Given the description of an element on the screen output the (x, y) to click on. 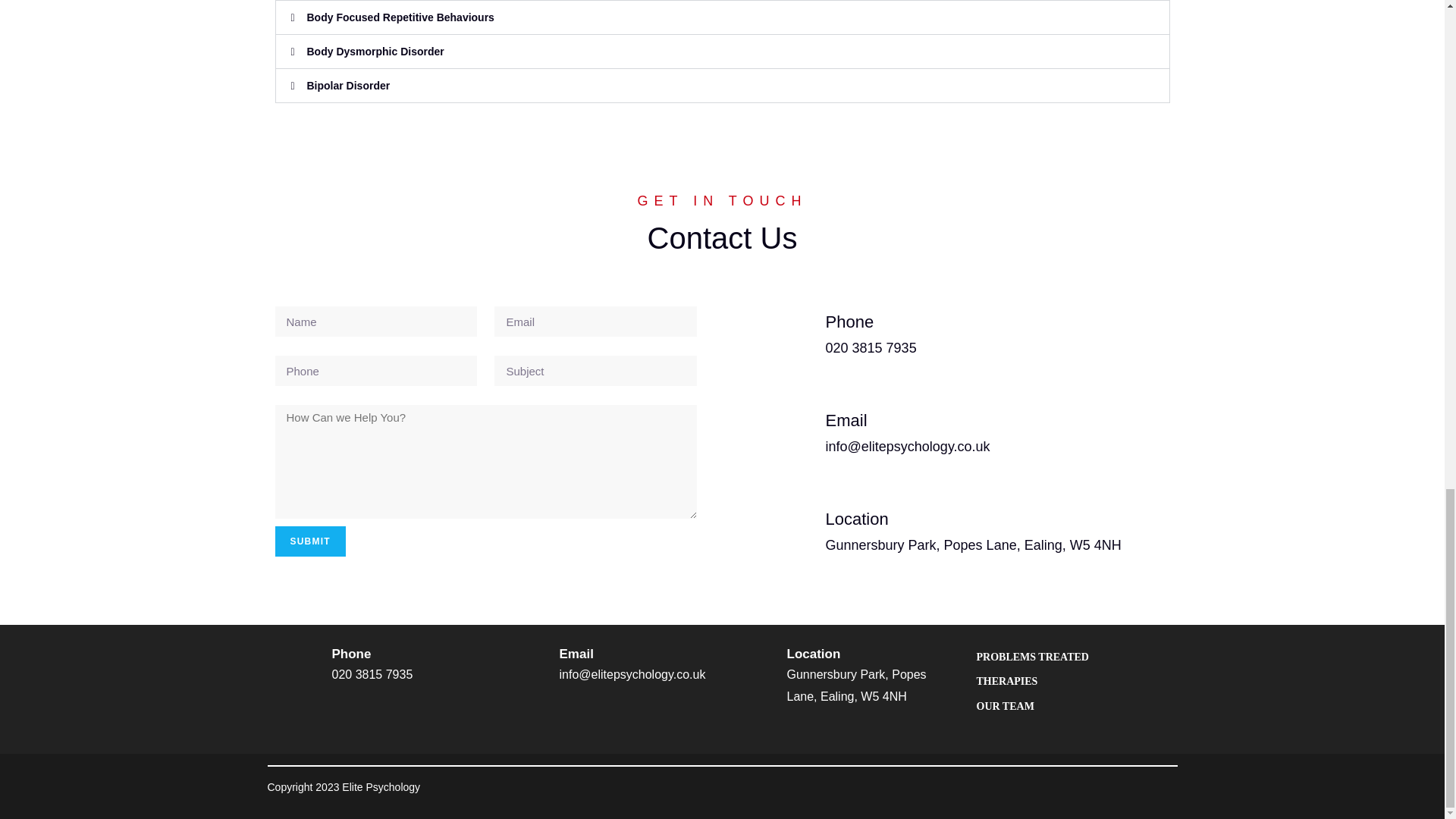
Submit (310, 541)
